Given the description of an element on the screen output the (x, y) to click on. 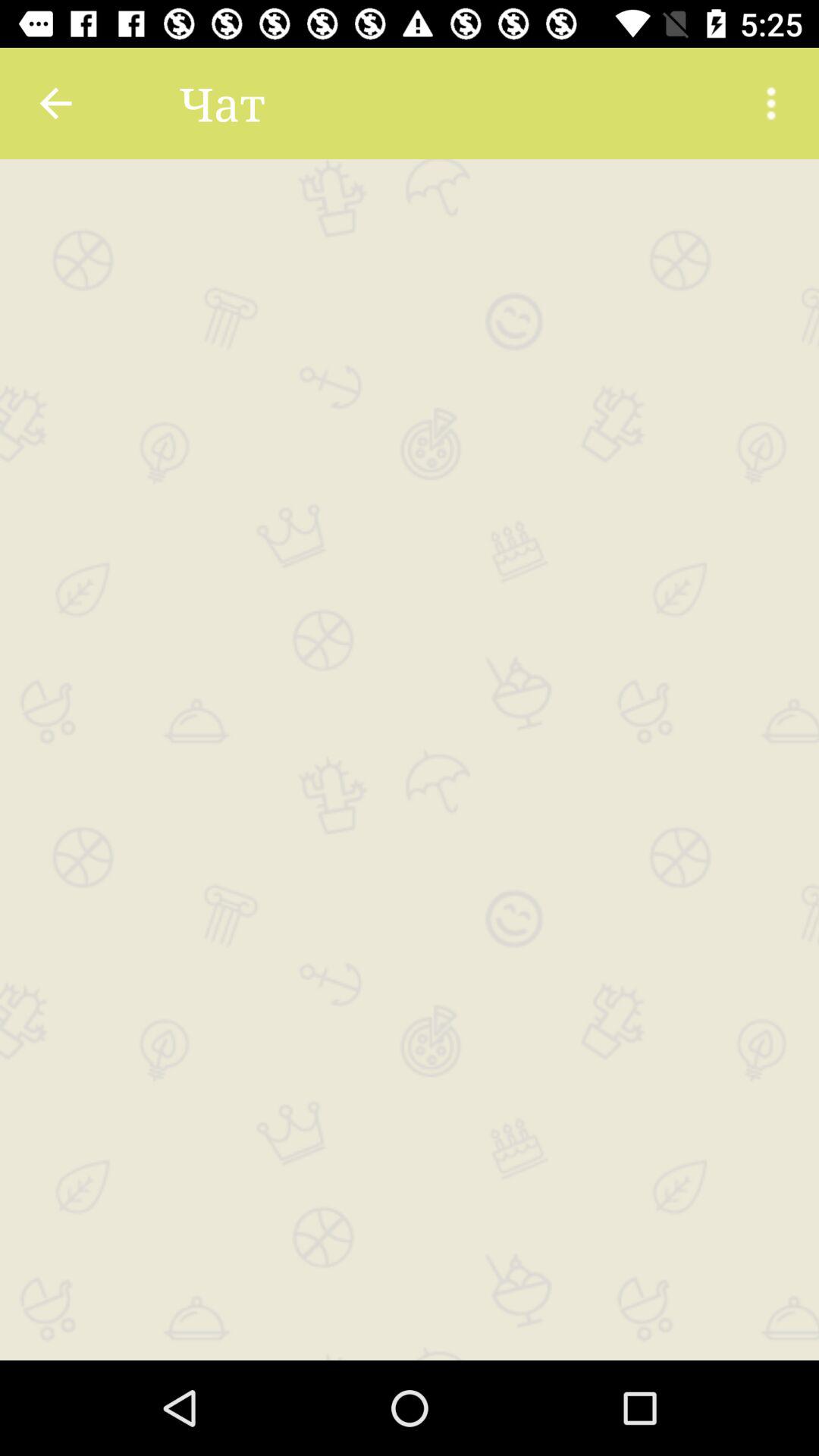
go to options (771, 103)
